Given the description of an element on the screen output the (x, y) to click on. 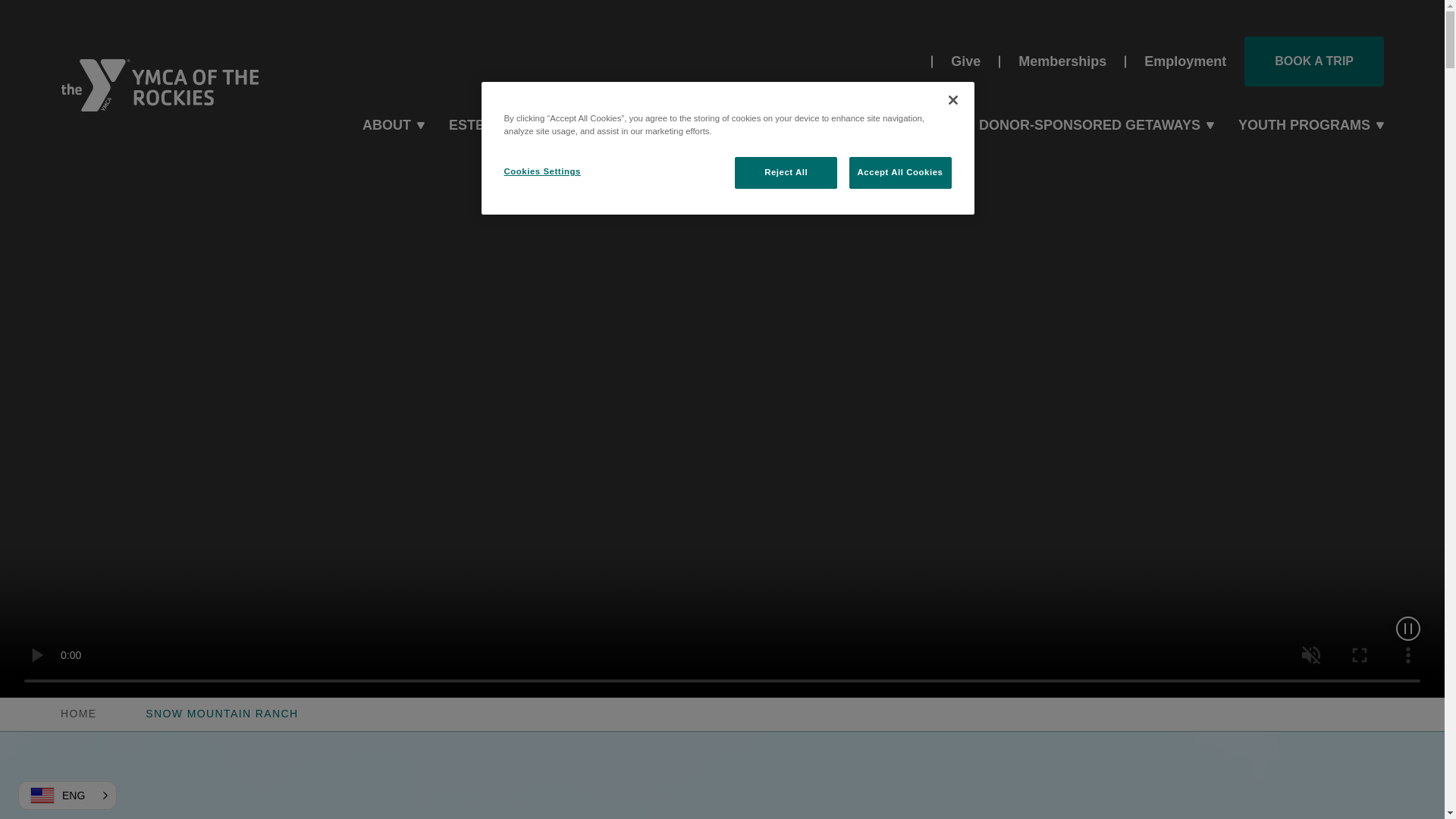
Employment (1184, 61)
Search (905, 61)
Give (966, 61)
Memberships (1062, 61)
Return to Homepage (79, 713)
